Given the description of an element on the screen output the (x, y) to click on. 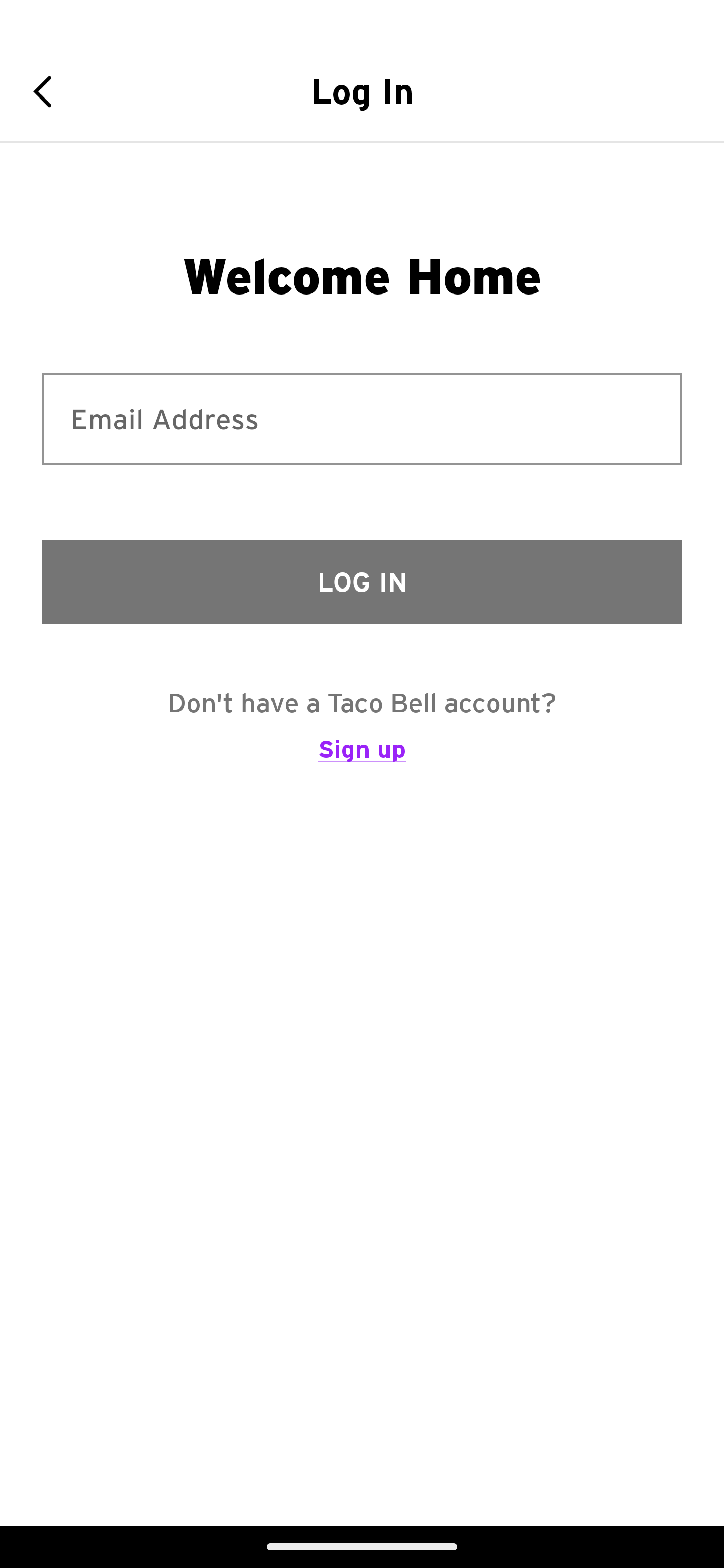
Navigate up (49, 91)
Email Address (361, 419)
LOG IN (361, 581)
Sign up (361, 757)
